Given the description of an element on the screen output the (x, y) to click on. 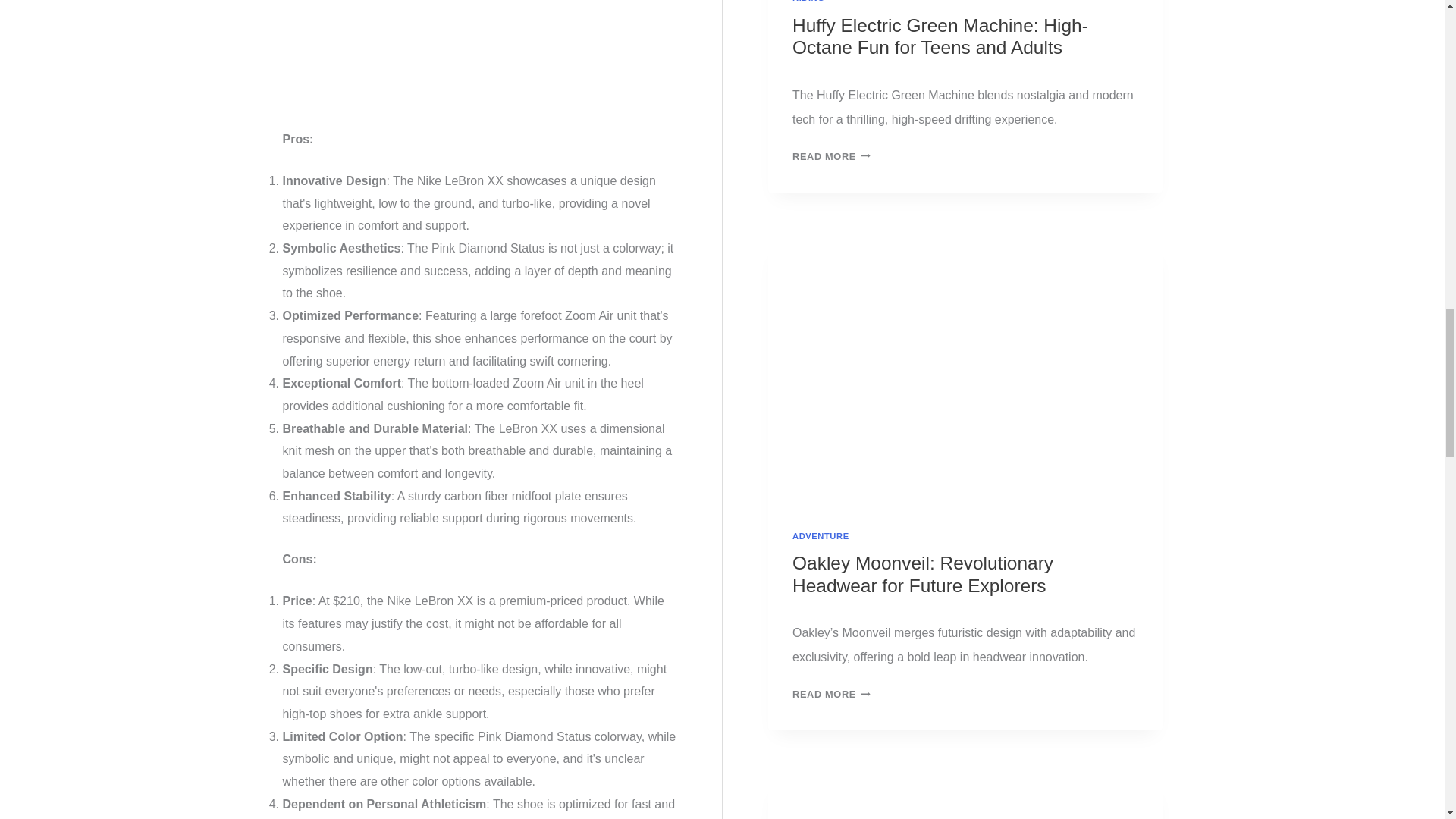
LeBron XX: Why Everyone Loves It (479, 57)
